Given the description of an element on the screen output the (x, y) to click on. 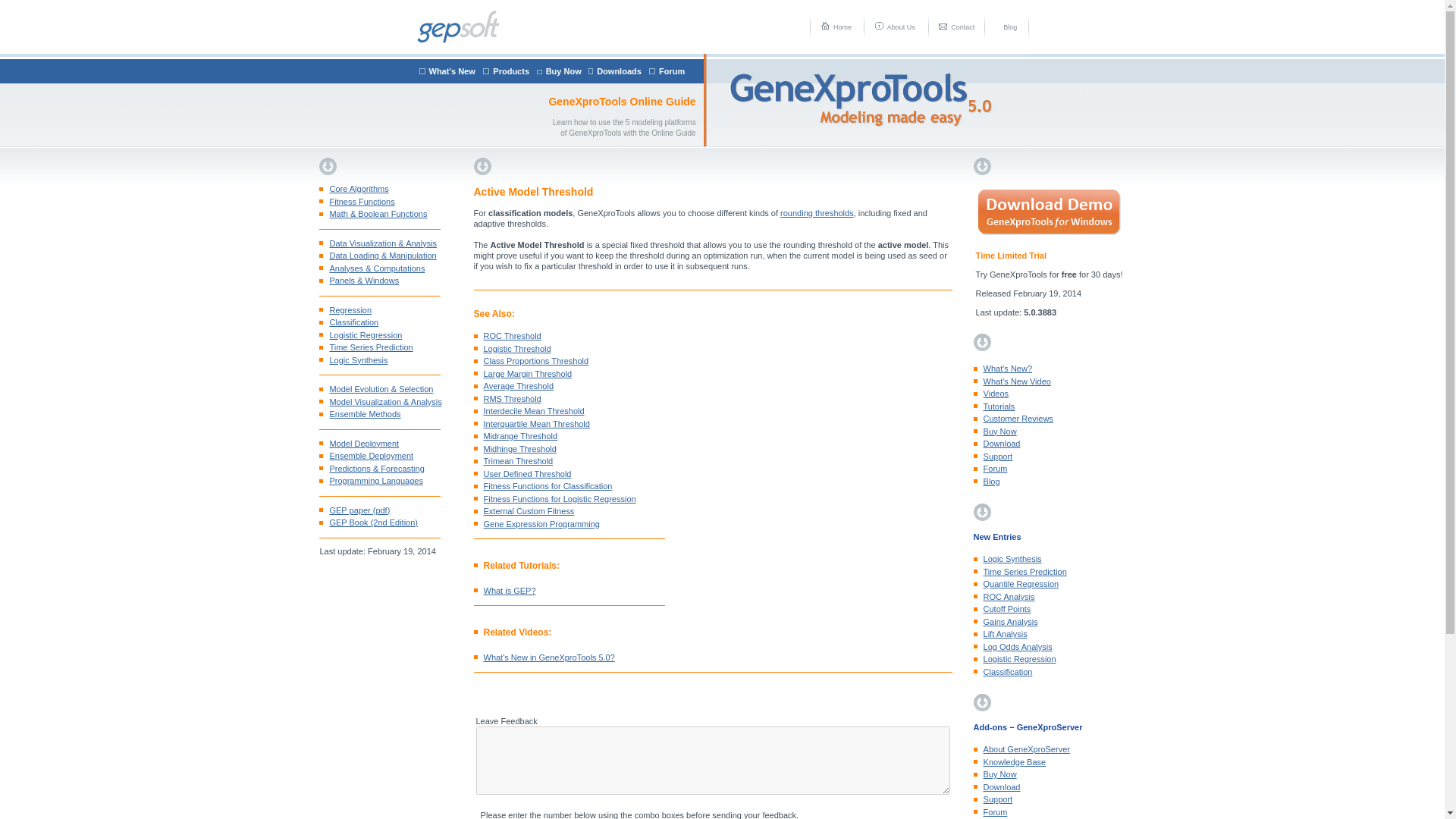
Contact (962, 26)
Gepsoft Limited logo (457, 26)
Forum (671, 71)
Interdecile Mean Threshold (528, 410)
Regression (344, 308)
Ensemble Methods (359, 413)
Class Proportions Threshold (530, 360)
rounding thresholds (816, 212)
Buy Now (563, 71)
Products (511, 71)
